Given the description of an element on the screen output the (x, y) to click on. 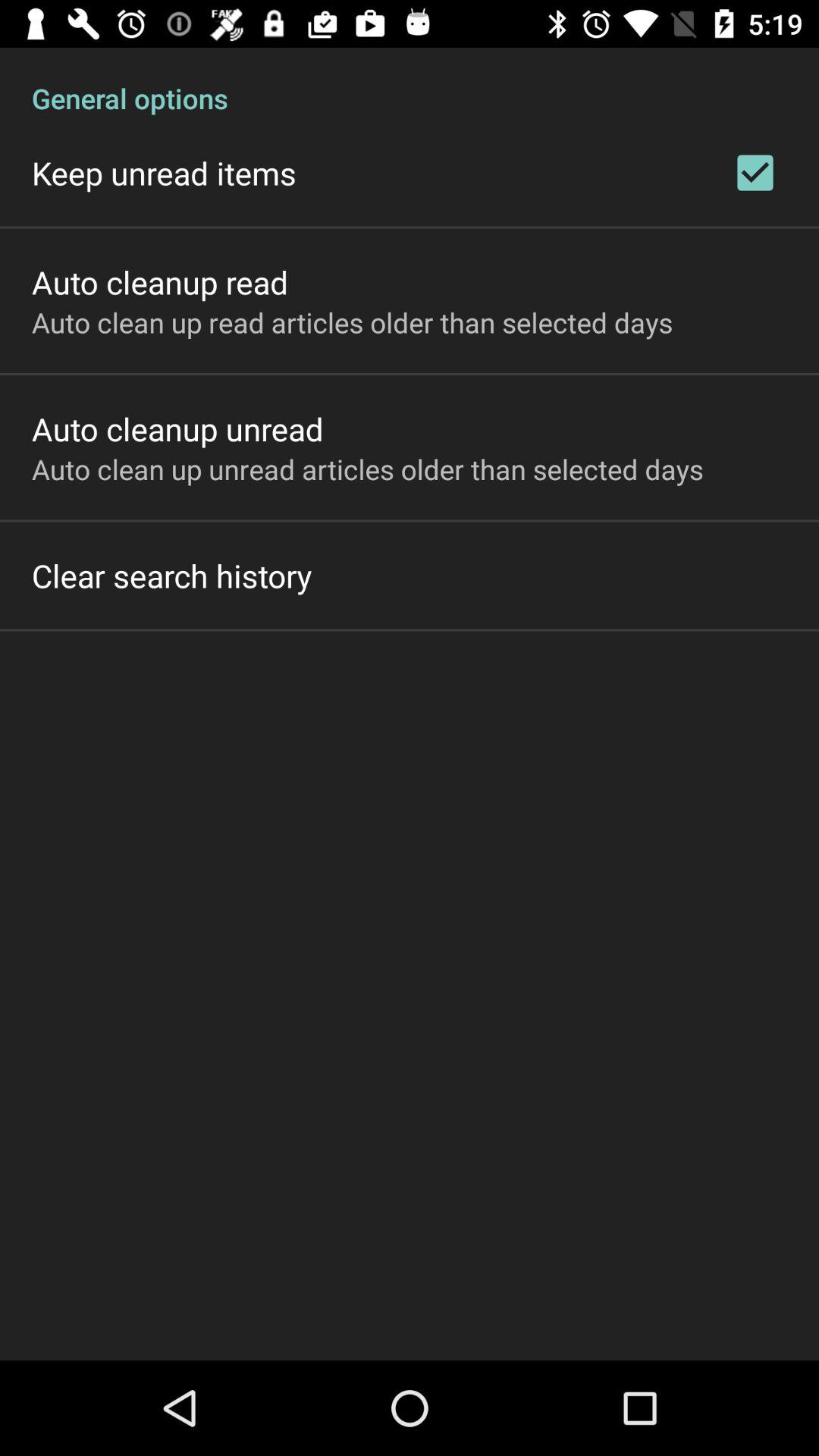
select icon at the top right corner (755, 172)
